Given the description of an element on the screen output the (x, y) to click on. 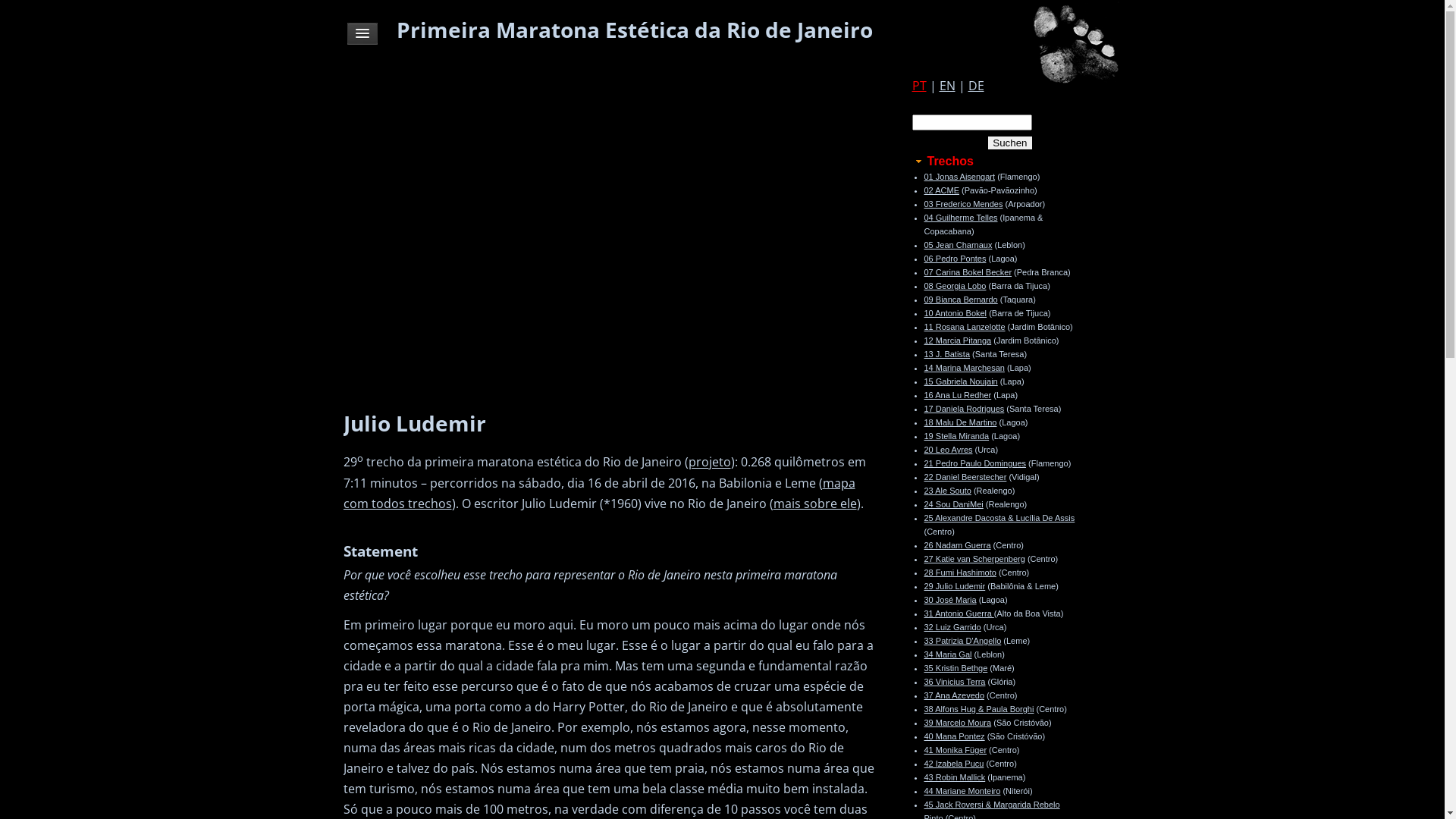
20 Leo Ayres Element type: text (947, 449)
04 Guilherme Telles Element type: text (960, 217)
19 Stella Miranda Element type: text (955, 435)
24 Sou DaniMei Element type: text (952, 503)
17 Daniela Rodrigues Element type: text (963, 408)
33 Patrizia D'Angello Element type: text (962, 640)
DE Element type: text (975, 85)
15 Gabriela Noujain Element type: text (960, 380)
32 Luiz Garrido Element type: text (951, 626)
Trechos Element type: text (941, 160)
38 Alfons Hug & Paula Borghi Element type: text (978, 708)
23 Ale Souto Element type: text (946, 490)
13 J. Batista Element type: text (946, 353)
Suchen Element type: text (1009, 142)
27 Katie van Scherpenberg Element type: text (973, 558)
14 Marina Marchesan Element type: text (963, 367)
02 ACME Element type: text (940, 189)
18 Malu De Martino Element type: text (959, 421)
07 Carina Bokel Becker Element type: text (967, 271)
39 Marcelo Moura Element type: text (957, 722)
44 Mariane Monteiro Element type: text (961, 790)
03 Frederico Mendes Element type: text (962, 203)
36 Vinicius Terra Element type: text (954, 681)
16 Ana Lu Redher Element type: text (957, 394)
projeto Element type: text (709, 462)
34 Maria Gal Element type: text (947, 653)
05 Jean Charnaux Element type: text (957, 244)
mapa com todos trechos Element type: text (598, 492)
06 Pedro Pontes Element type: text (954, 258)
28 Fumi Hashimoto Element type: text (959, 572)
08 Georgia Lobo Element type: text (954, 285)
35 Kristin Bethge Element type: text (955, 667)
01 Jonas Aisengart Element type: text (958, 176)
09 Bianca Bernardo Element type: text (960, 299)
42 Izabela Pucu Element type: text (953, 763)
37 Ana Azevedo Element type: text (953, 694)
40 Mana Pontez Element type: text (953, 735)
PT Element type: text (918, 85)
31 Antonio Guerra Element type: text (958, 613)
26 Nadam Guerra Element type: text (956, 544)
10 Antonio Bokel Element type: text (954, 312)
43 Robin Mallick Element type: text (954, 776)
EN Element type: text (946, 85)
mais sobre ele Element type: text (814, 503)
29 Julio Ludemir Element type: text (954, 585)
21 Pedro Paulo Domingues Element type: text (974, 462)
11 Rosana Lanzelotte Element type: text (963, 326)
12 Marcia Pitanga Element type: text (957, 340)
22 Daniel Beerstecher Element type: text (964, 476)
